Given the description of an element on the screen output the (x, y) to click on. 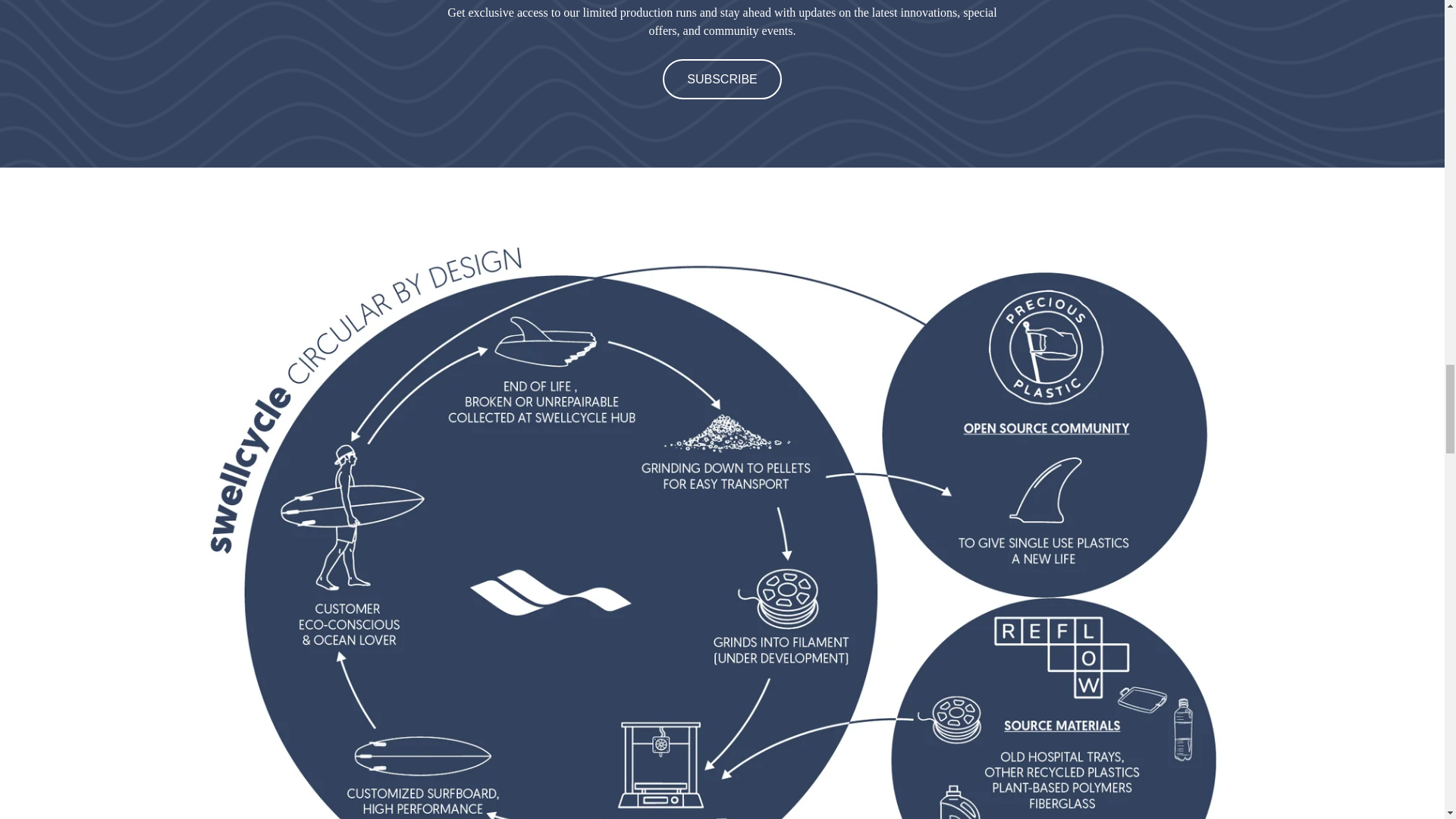
SUBSCRIBE (721, 78)
